Given the description of an element on the screen output the (x, y) to click on. 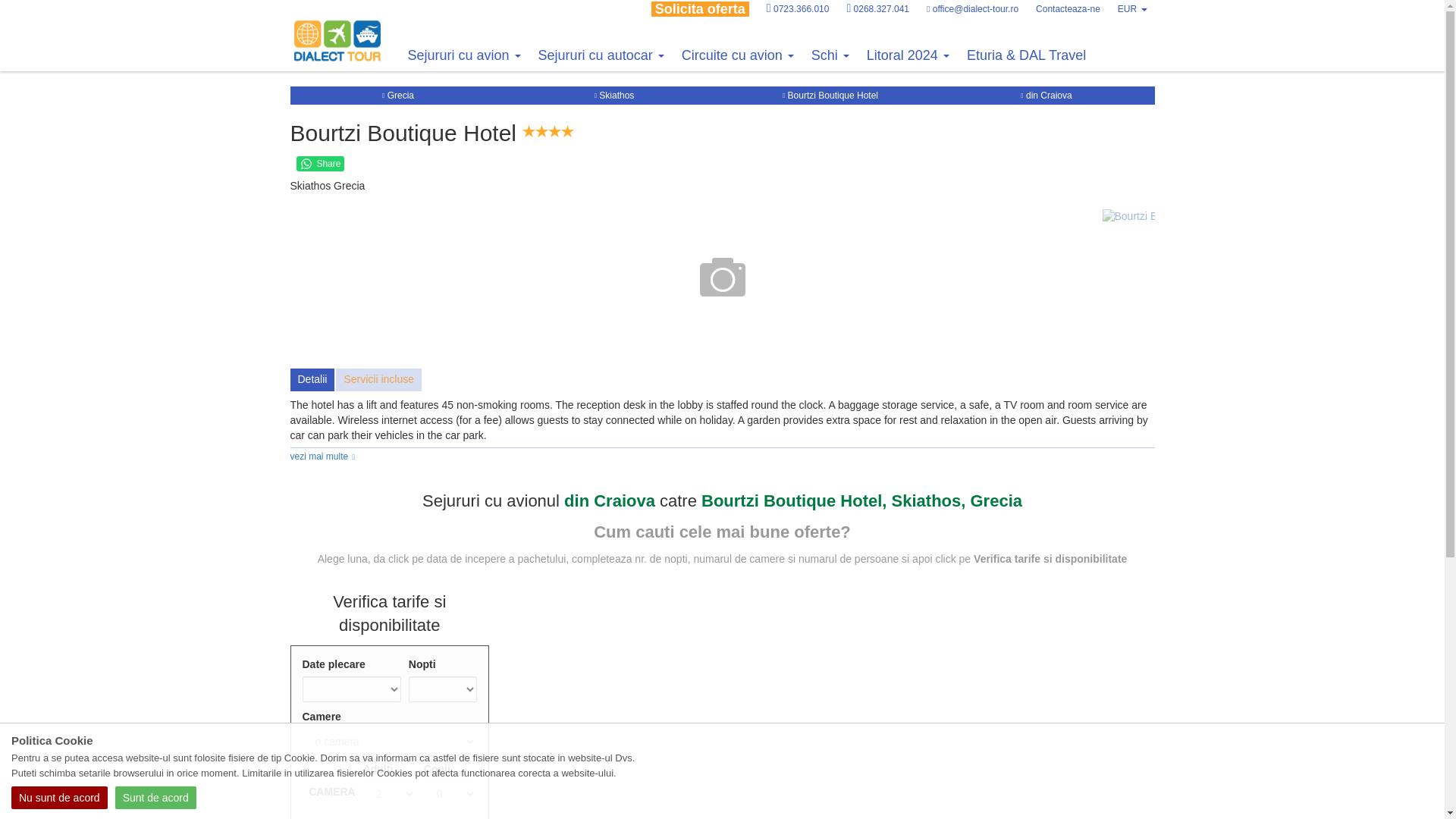
Litoral 2024 (907, 55)
Circuite cu avion (738, 55)
Schi (830, 55)
Sejururi cu autocar (601, 55)
Sejururi cu avion (464, 55)
